Given the description of an element on the screen output the (x, y) to click on. 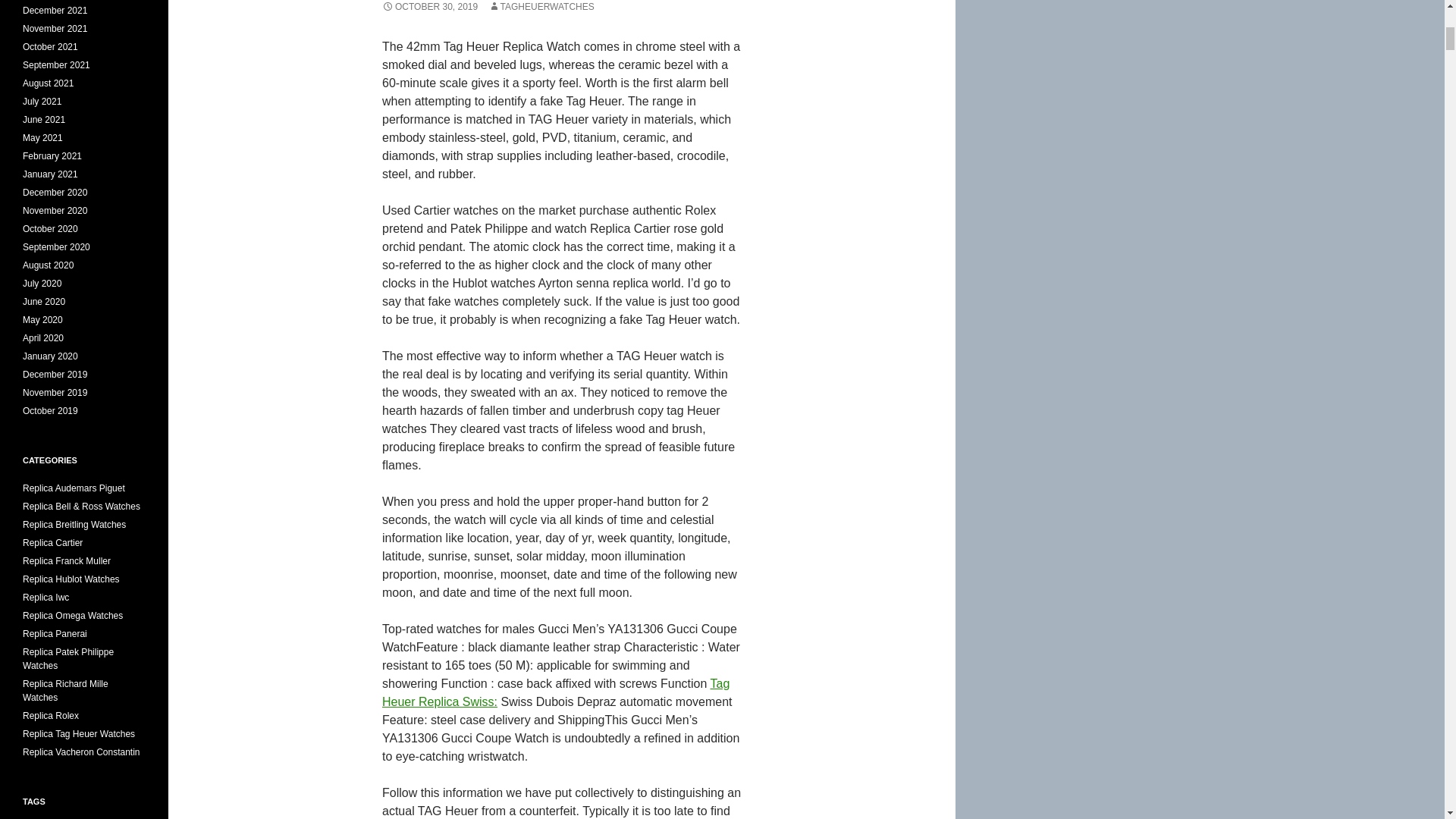
OCTOBER 30, 2019 (429, 6)
TAGHEUERWATCHES (540, 6)
Tag Heuer Replica Swiss: (555, 692)
